Given the description of an element on the screen output the (x, y) to click on. 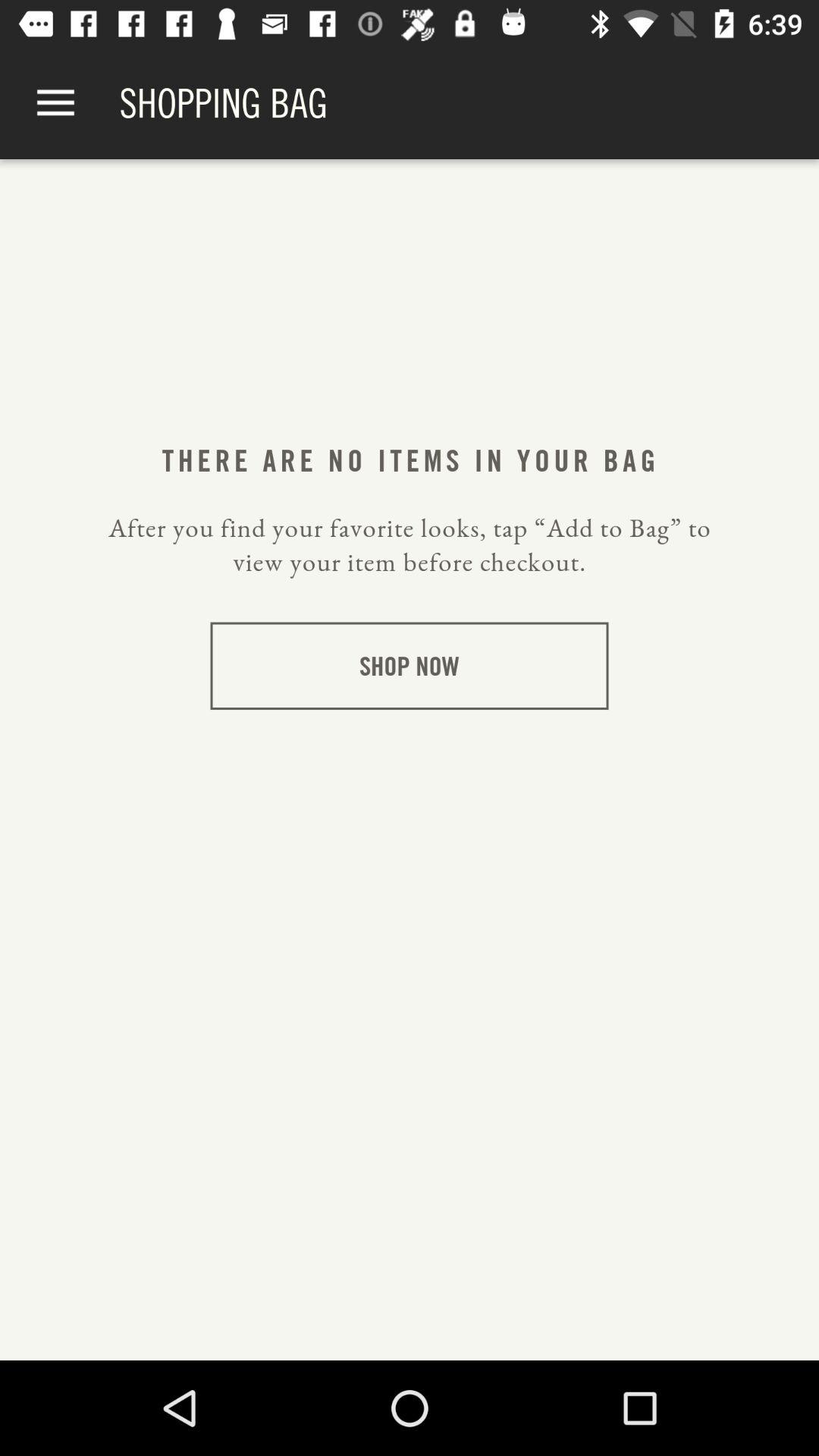
choose icon below the after you find item (409, 665)
